Given the description of an element on the screen output the (x, y) to click on. 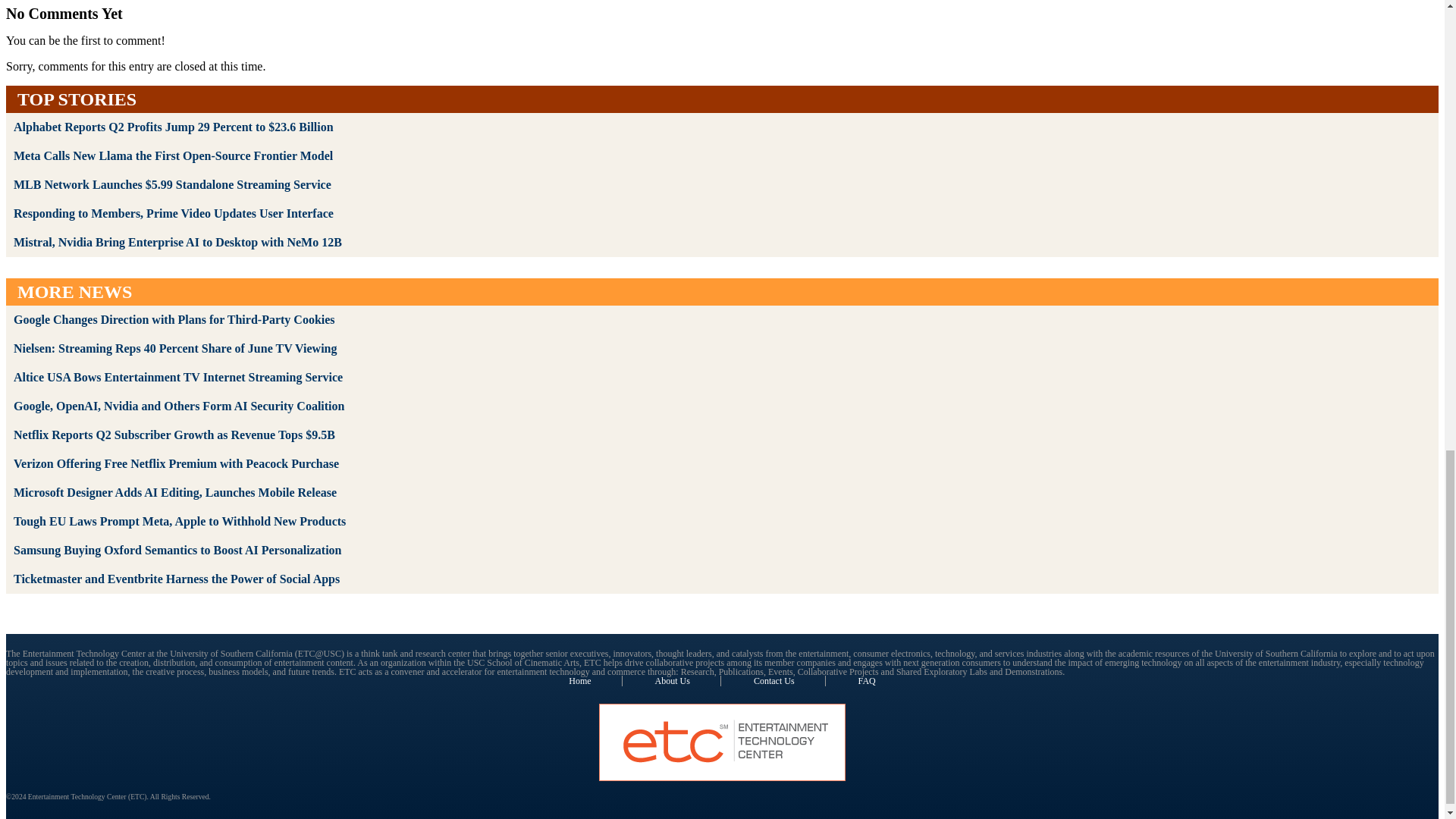
Meta Calls New Llama the First Open-Source Frontier Model (173, 155)
